Given the description of an element on the screen output the (x, y) to click on. 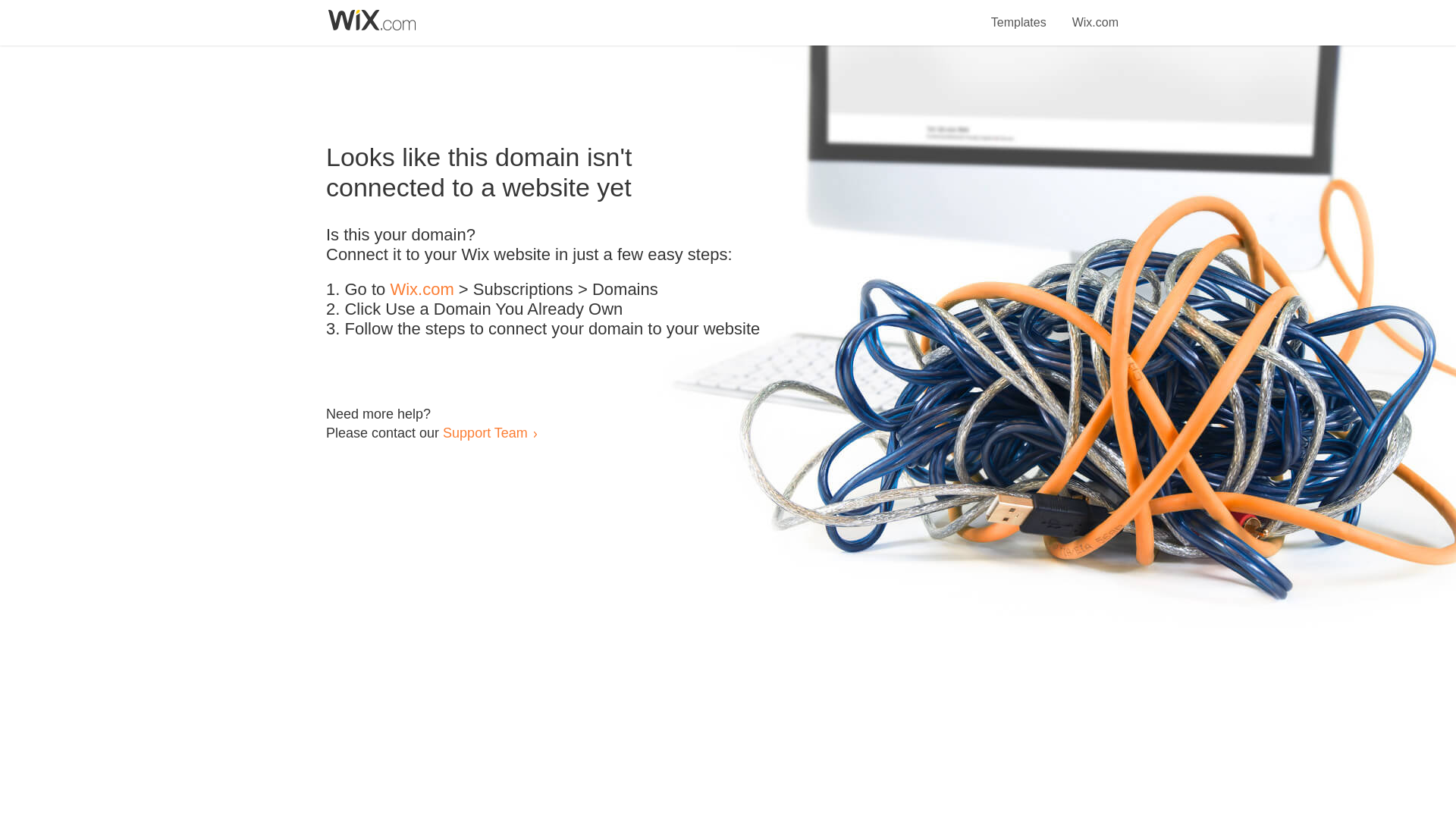
Templates (1018, 14)
Wix.com (1095, 14)
Support Team (484, 432)
Wix.com (421, 289)
